Given the description of an element on the screen output the (x, y) to click on. 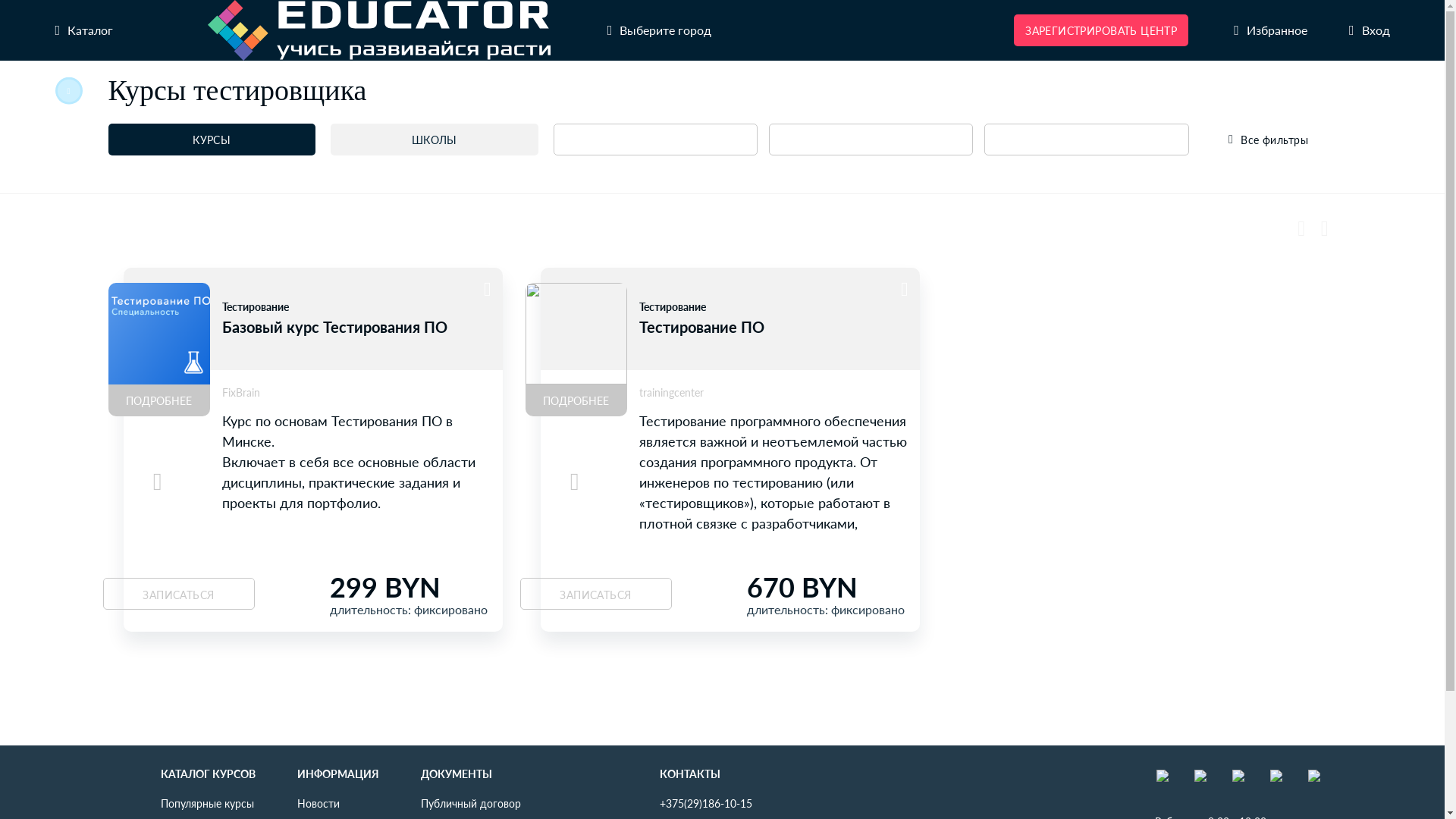
+375(29)186-10-15 Element type: text (705, 802)
